Given the description of an element on the screen output the (x, y) to click on. 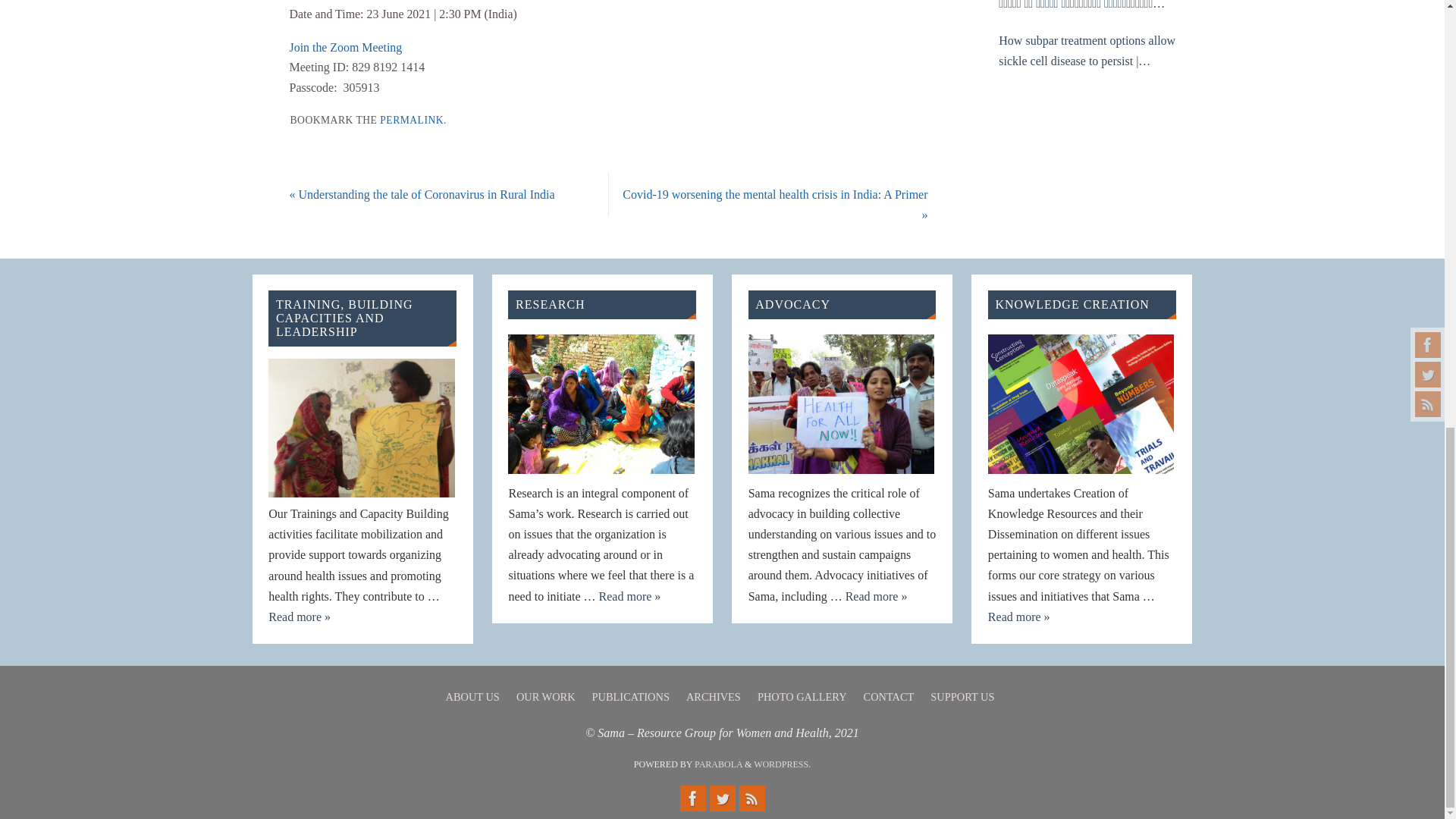
Semantic Personal Publishing Platform (782, 764)
Permalink to Training workshop on Vaccine Hesitancy (412, 120)
Parabola Theme by Cryout Creations (718, 764)
Facebook (691, 798)
News from Sama (751, 798)
Twitter (722, 798)
